Given the description of an element on the screen output the (x, y) to click on. 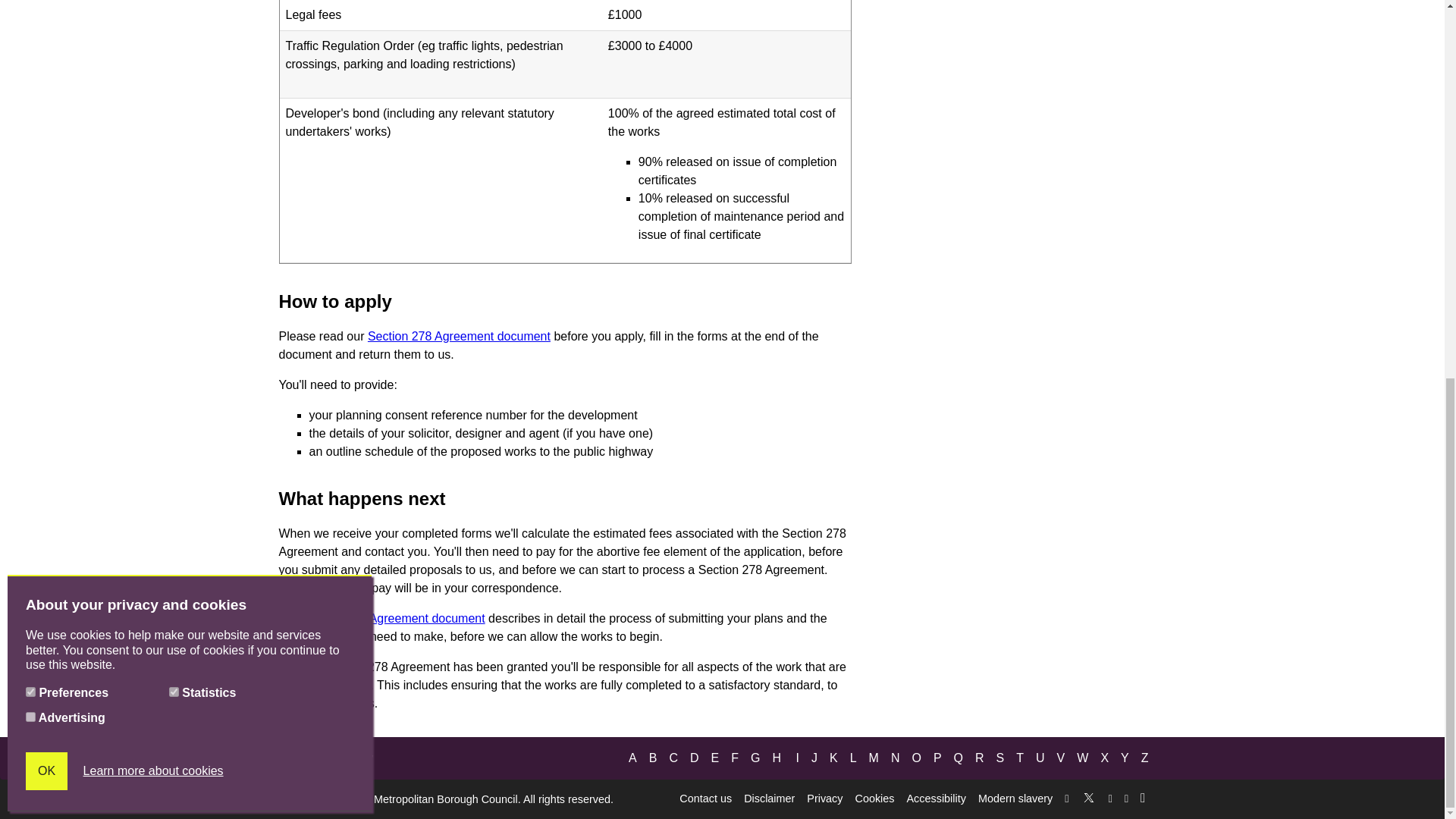
Section 278 Agreement document (459, 336)
C (673, 758)
True (30, 17)
Follow us on X (1088, 794)
H (776, 758)
OK (46, 71)
A (633, 758)
D (694, 758)
M (874, 758)
G (754, 758)
